Given the description of an element on the screen output the (x, y) to click on. 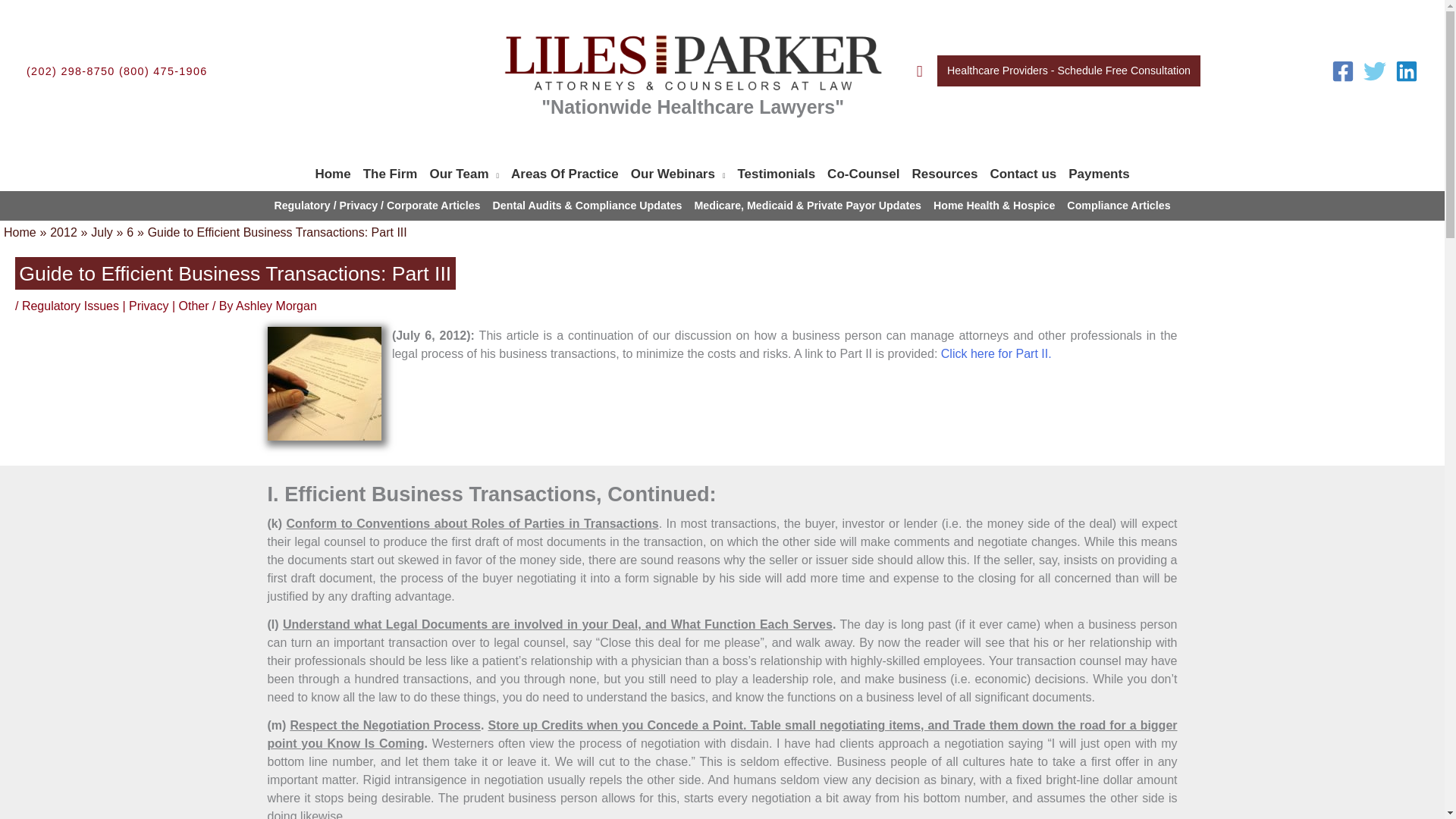
Resources (944, 174)
The Firm (389, 174)
Compliance Articles (1118, 205)
Contact us (1023, 174)
Testimonials (775, 174)
Our Team (464, 174)
Co-Counsel (863, 174)
View all posts by Ashley Morgan (276, 305)
Healthcare Providers - Schedule Free Consultation (1068, 70)
Efficient Business Transactions (323, 383)
